Given the description of an element on the screen output the (x, y) to click on. 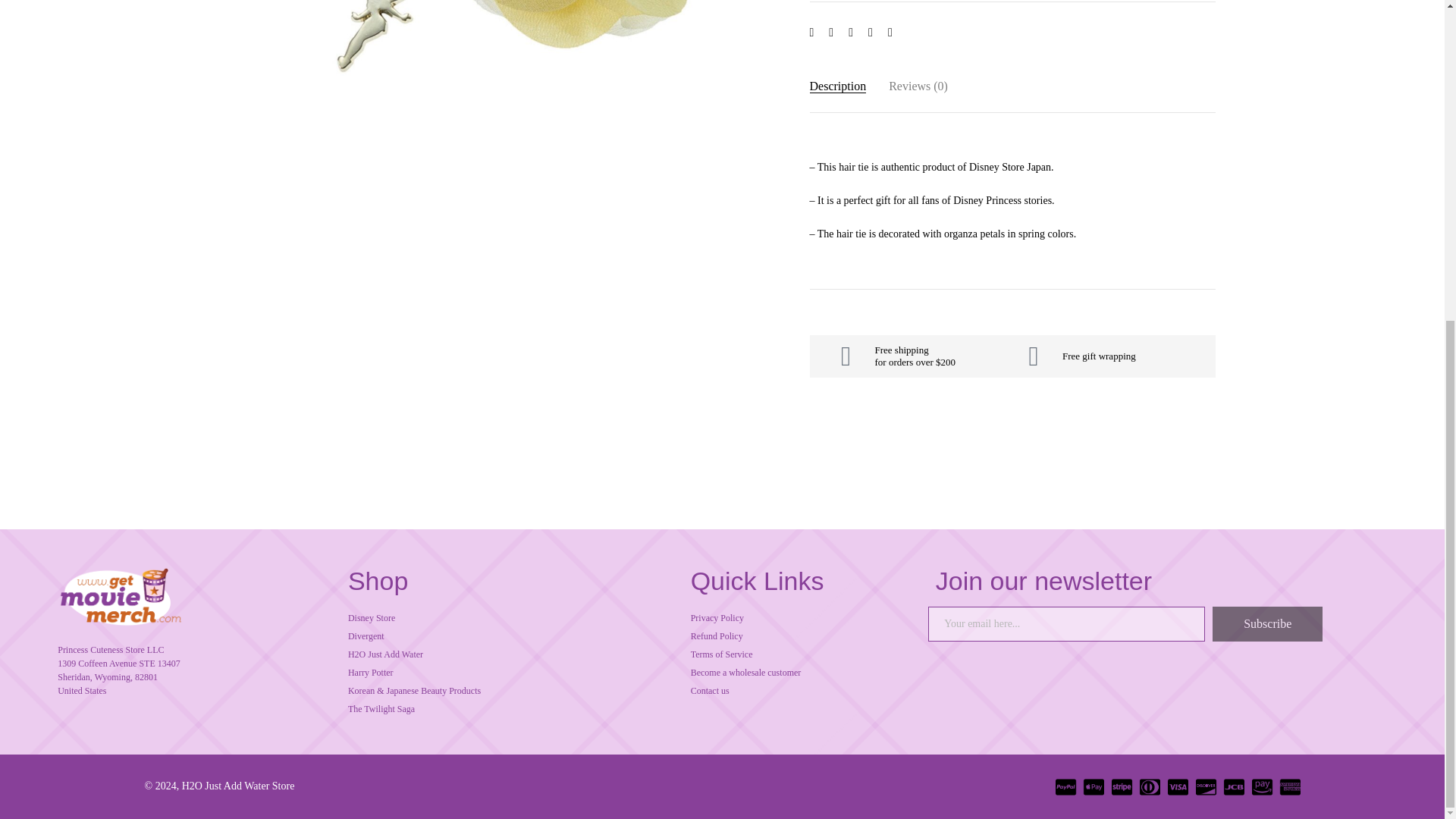
Description (837, 85)
Disney Store (511, 617)
A7EBF6B0-01BF-41C5-8B6B-CB62C49A8495 (534, 62)
